Given the description of an element on the screen output the (x, y) to click on. 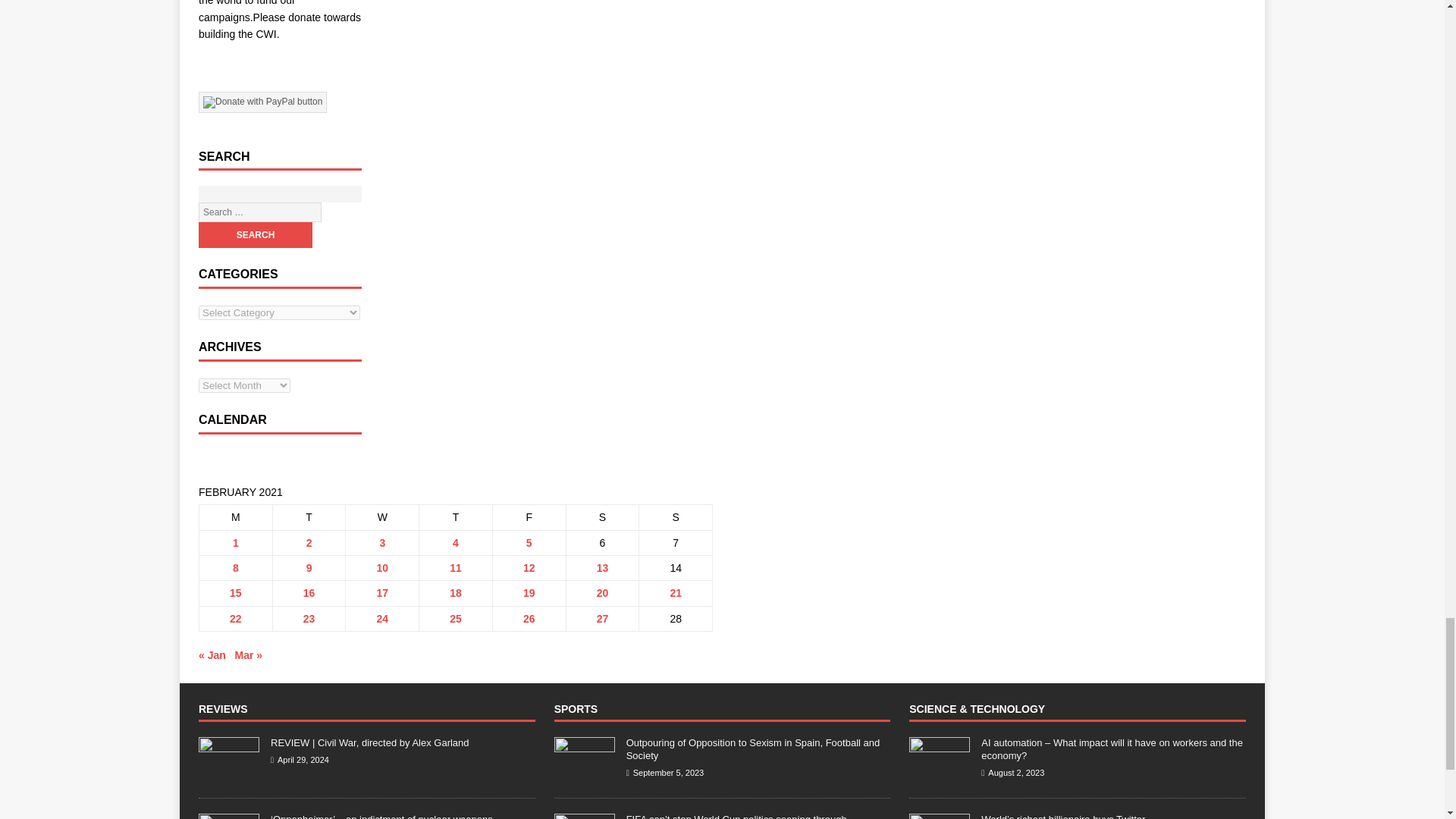
Search (255, 234)
Search (255, 234)
